Given the description of an element on the screen output the (x, y) to click on. 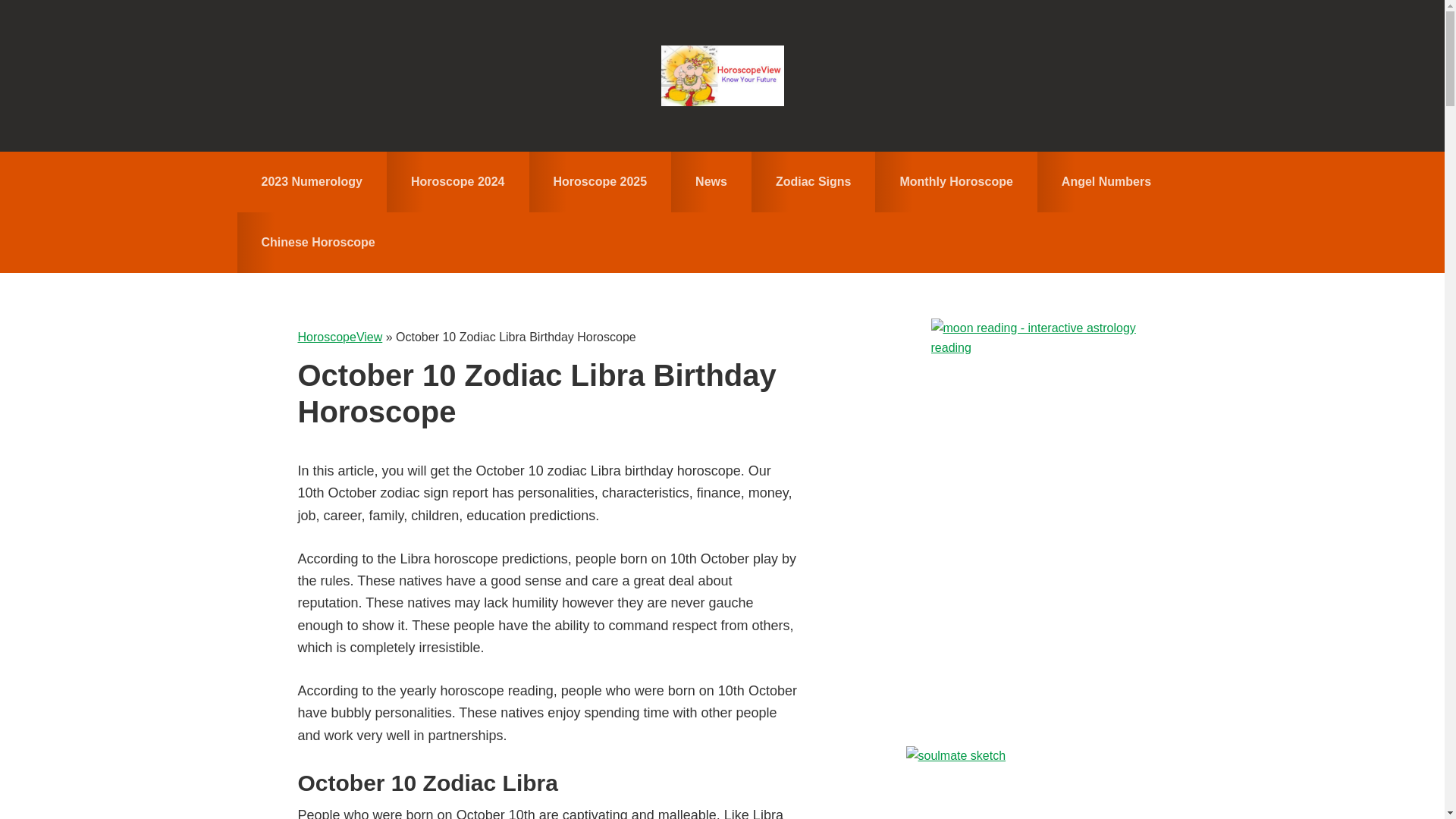
Angel Numbers (1105, 181)
Zodiac Signs (813, 181)
HoroscopeView (722, 75)
News (711, 181)
HoroscopeView (339, 336)
Chinese Horoscope (316, 242)
Horoscope 2025 (600, 181)
2023 Numerology (310, 181)
Monthly Horoscope (955, 181)
Horoscope 2024 (458, 181)
